Given the description of an element on the screen output the (x, y) to click on. 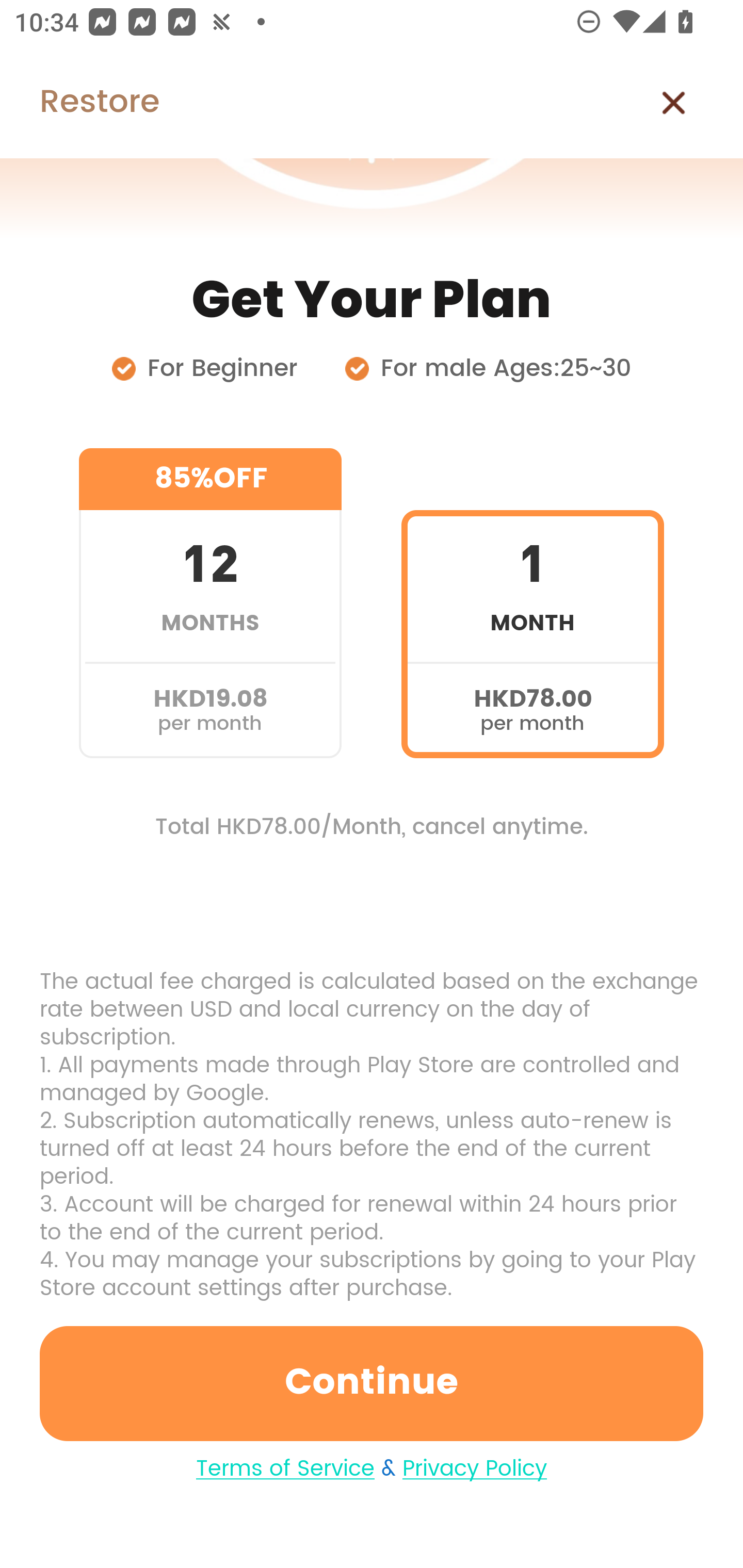
Restore (79, 102)
85%OFF 12 MONTHS per month HKD19.08 (209, 603)
1 MONTH per month HKD78.00 (532, 603)
Continue (371, 1383)
